Given the description of an element on the screen output the (x, y) to click on. 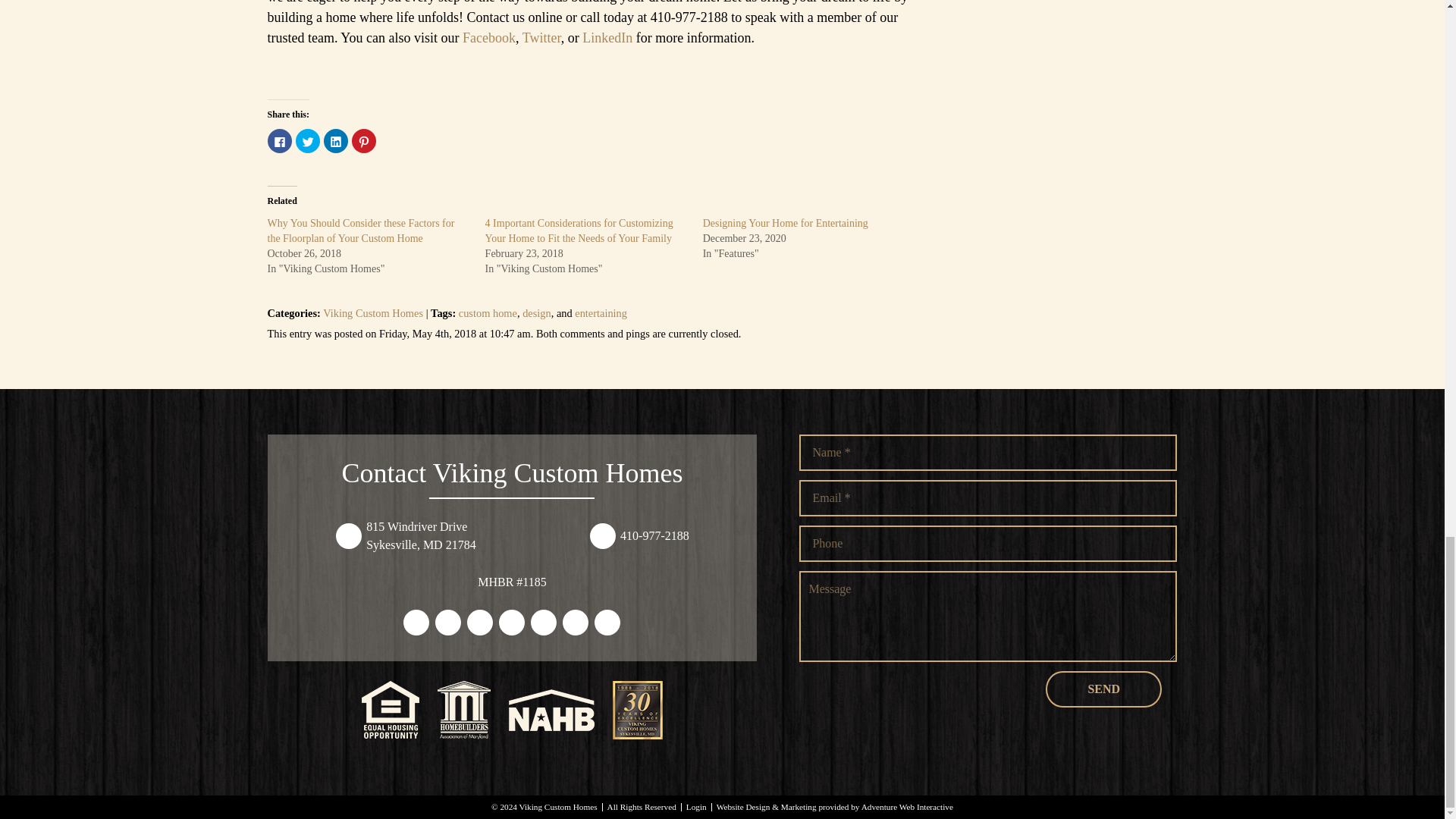
Click to share on LinkedIn (335, 140)
Send (1103, 688)
Click to share on Facebook (278, 140)
Equal Housing Opportunity (390, 709)
NAHB (551, 710)
Click to share on Pinterest (363, 140)
LinkedIn (606, 37)
Click to share on Twitter (307, 140)
Twitter (541, 37)
Homebuildiers Association of Maryland (464, 709)
Facebook (489, 37)
